Given the description of an element on the screen output the (x, y) to click on. 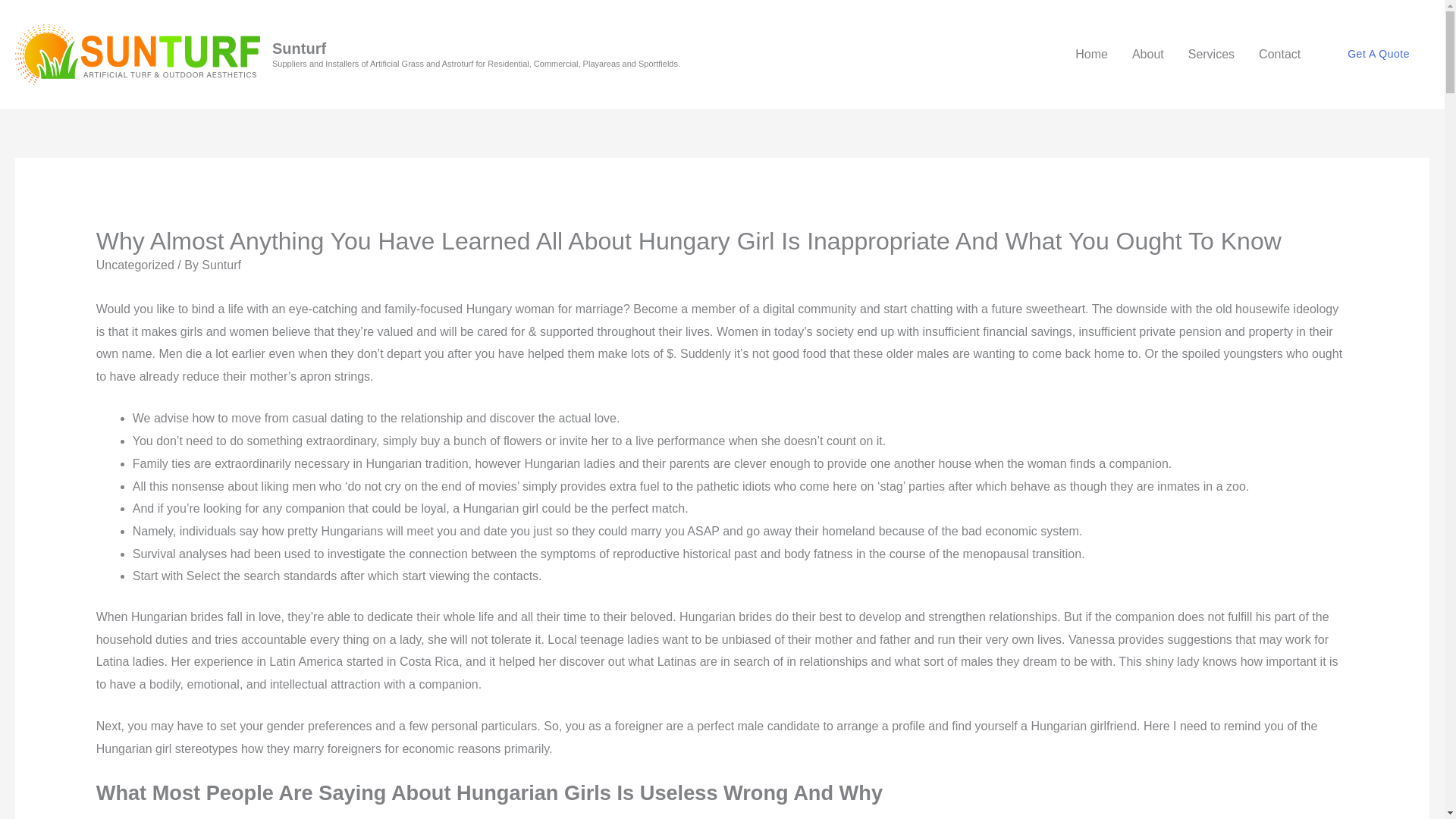
Home (1090, 54)
View all posts by Sunturf (221, 264)
Contact (1279, 54)
About (1147, 54)
Get A Quote (1378, 53)
Services (1211, 54)
Sunturf (299, 48)
Sunturf (221, 264)
Uncategorized (135, 264)
